Given the description of an element on the screen output the (x, y) to click on. 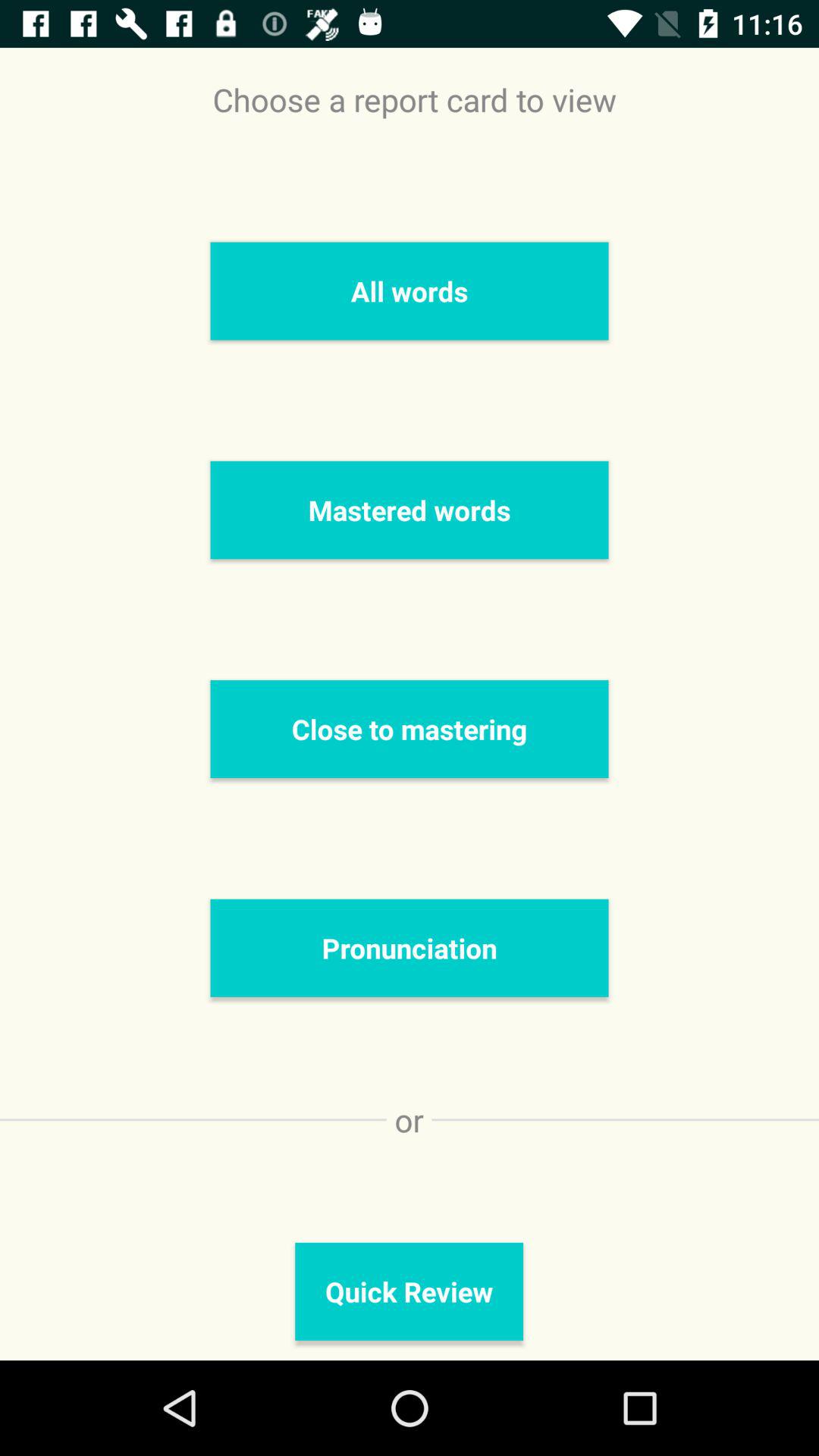
open mastered words item (409, 510)
